Given the description of an element on the screen output the (x, y) to click on. 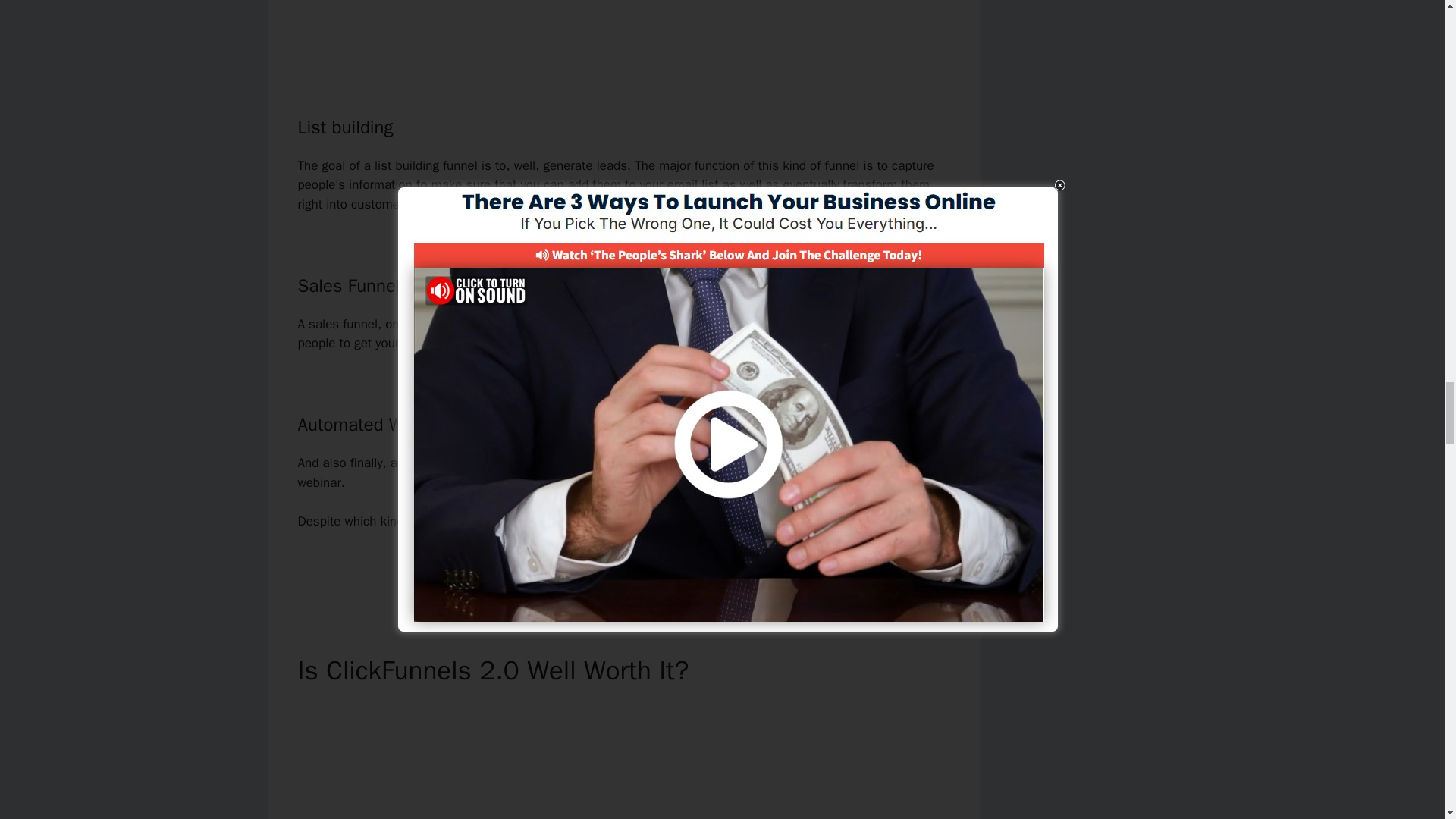
Get ClickFunnels 2.0 Free Account Today (623, 573)
